Given the description of an element on the screen output the (x, y) to click on. 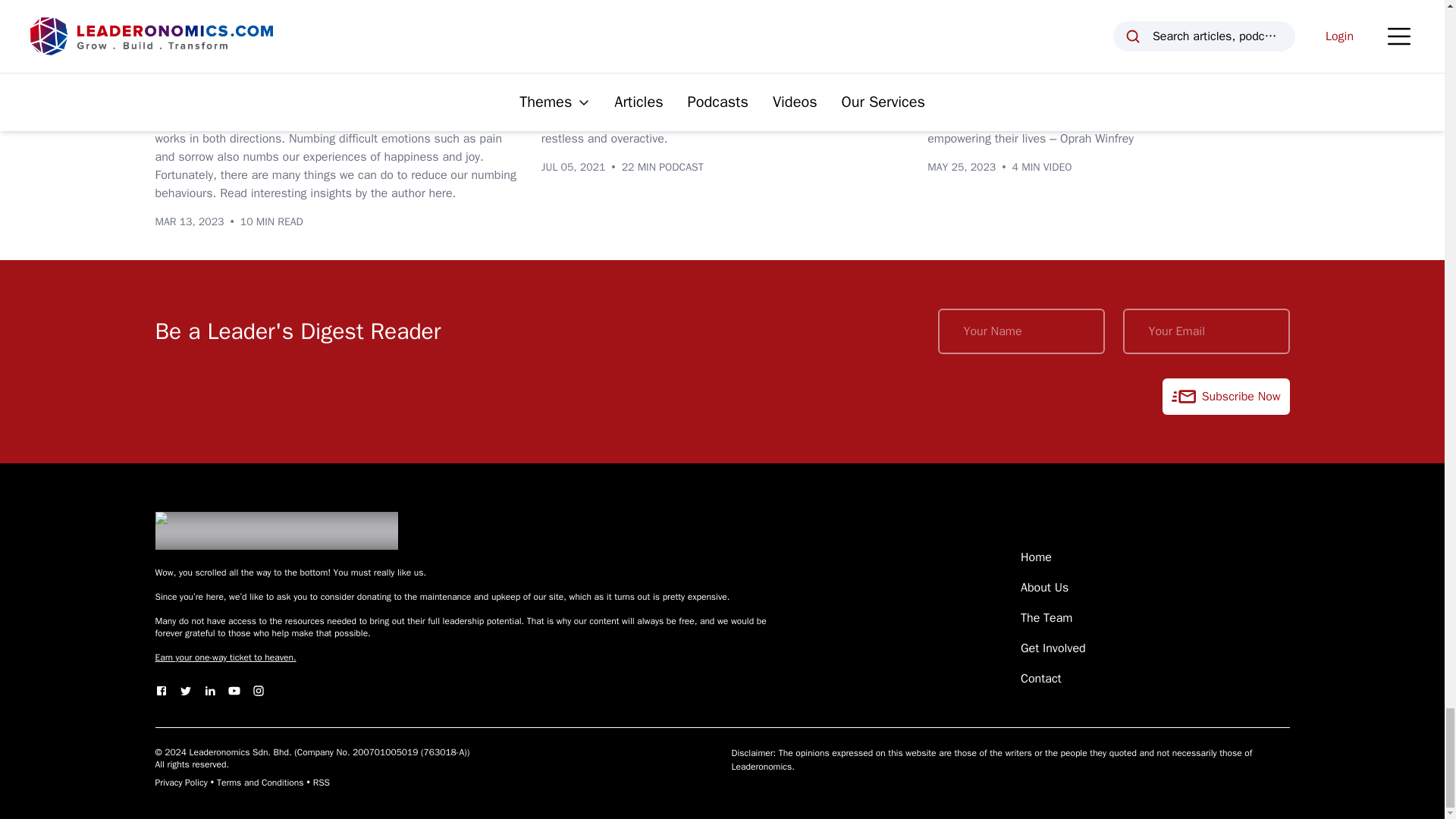
How Our Monkey Mind Works (657, 70)
Are We Numbing Our Lives Away? (287, 70)
Podcast (572, 37)
Personal (643, 37)
Personal (248, 37)
Article (181, 37)
